Given the description of an element on the screen output the (x, y) to click on. 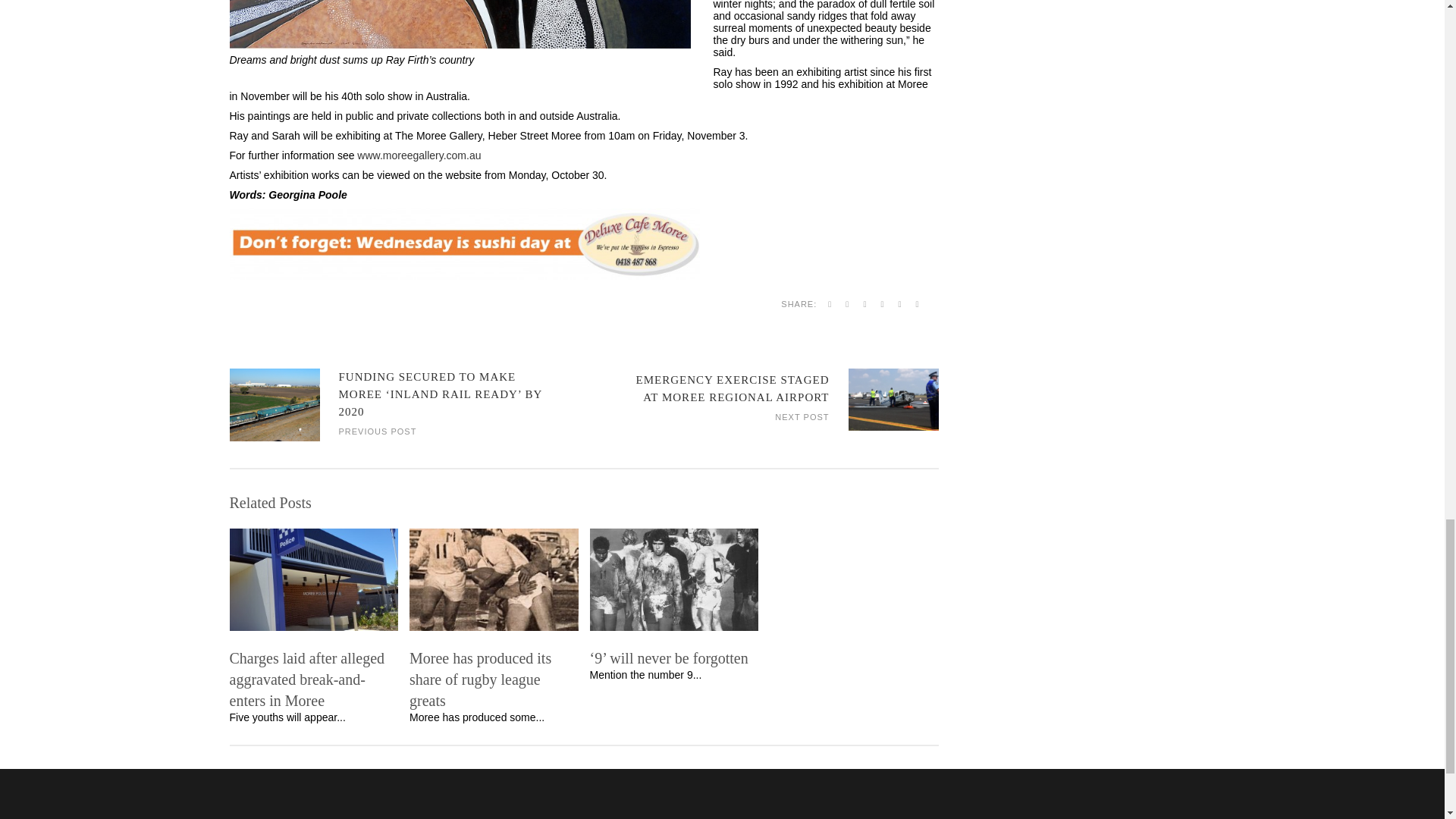
www.moreegallery.com.au (418, 155)
Moree has produced its share of rugby league greats (493, 679)
PREVIOUS POST (376, 430)
EMERGENCY EXERCISE STAGED AT MOREE REGIONAL AIRPORT (732, 388)
